Given the description of an element on the screen output the (x, y) to click on. 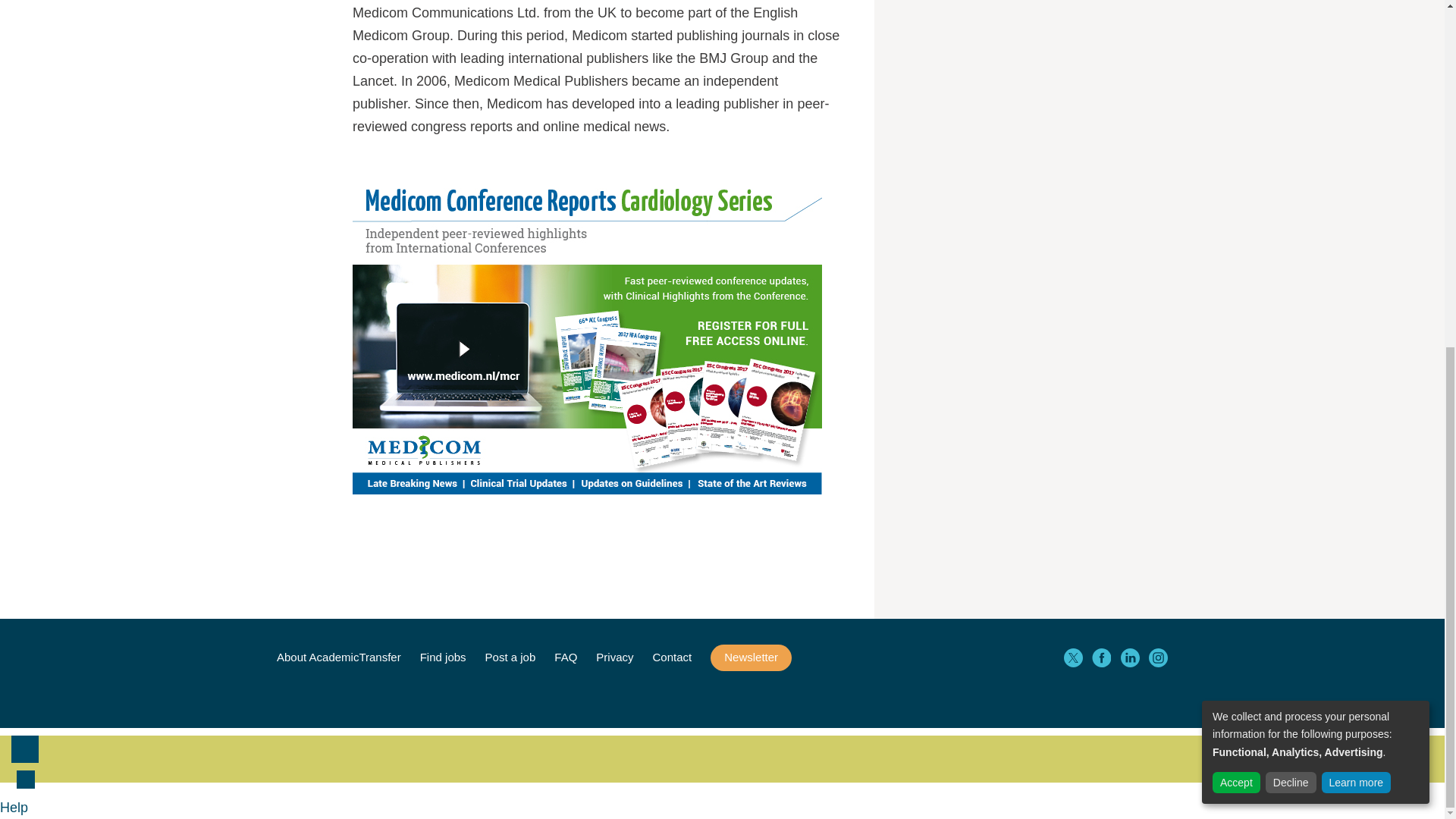
FAQ (565, 656)
Post a job (509, 656)
Find jobs (442, 656)
About AcademicTransfer (338, 656)
